Given the description of an element on the screen output the (x, y) to click on. 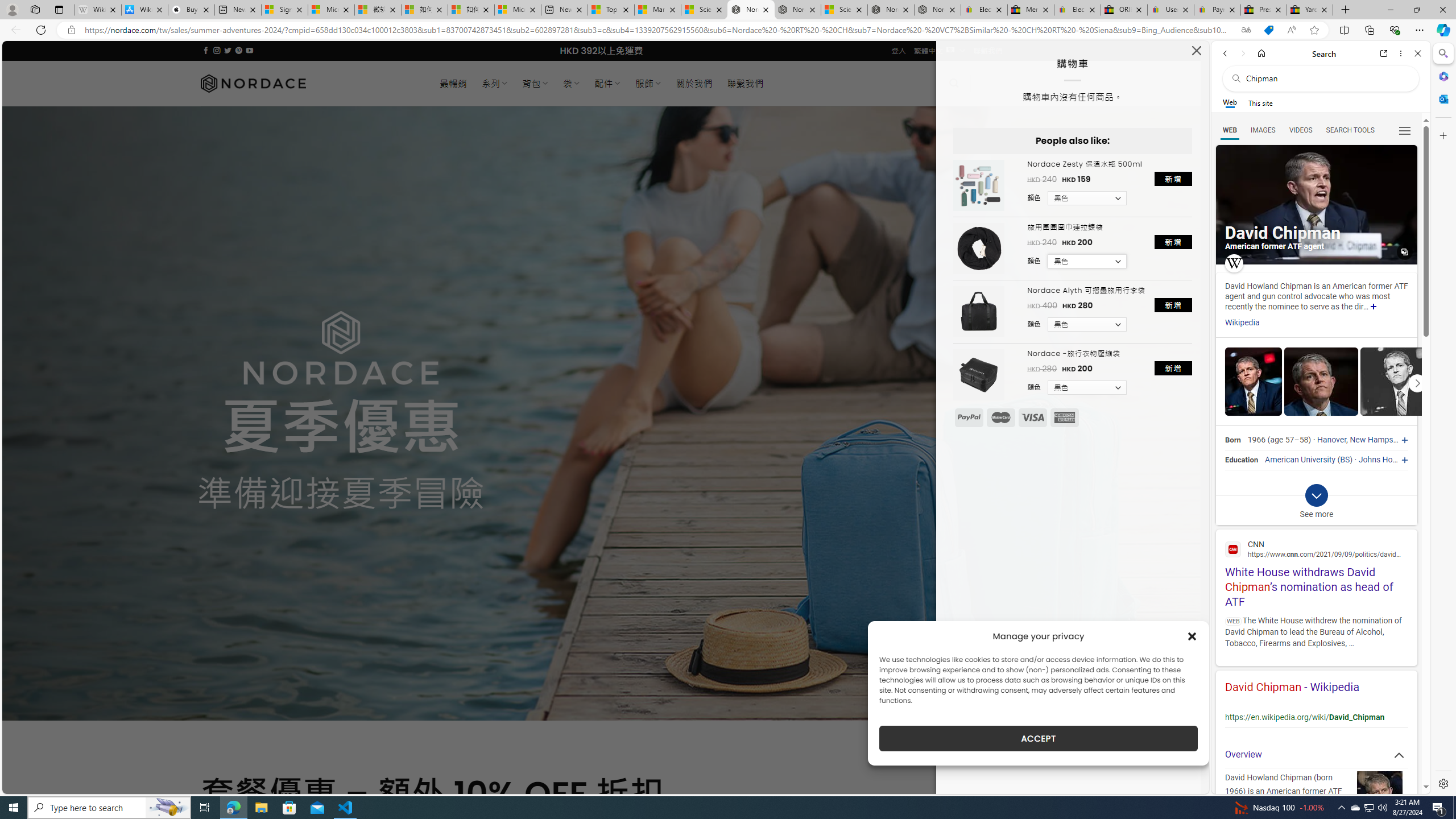
View site information (70, 29)
Buy iPad - Apple (191, 9)
Open link in new tab (1383, 53)
Split screen (1344, 29)
Search Filter, WEB (1230, 129)
Nordace (252, 83)
Personal Profile (12, 9)
This site scope (1259, 102)
All images (1404, 252)
Workspaces (34, 9)
